Given the description of an element on the screen output the (x, y) to click on. 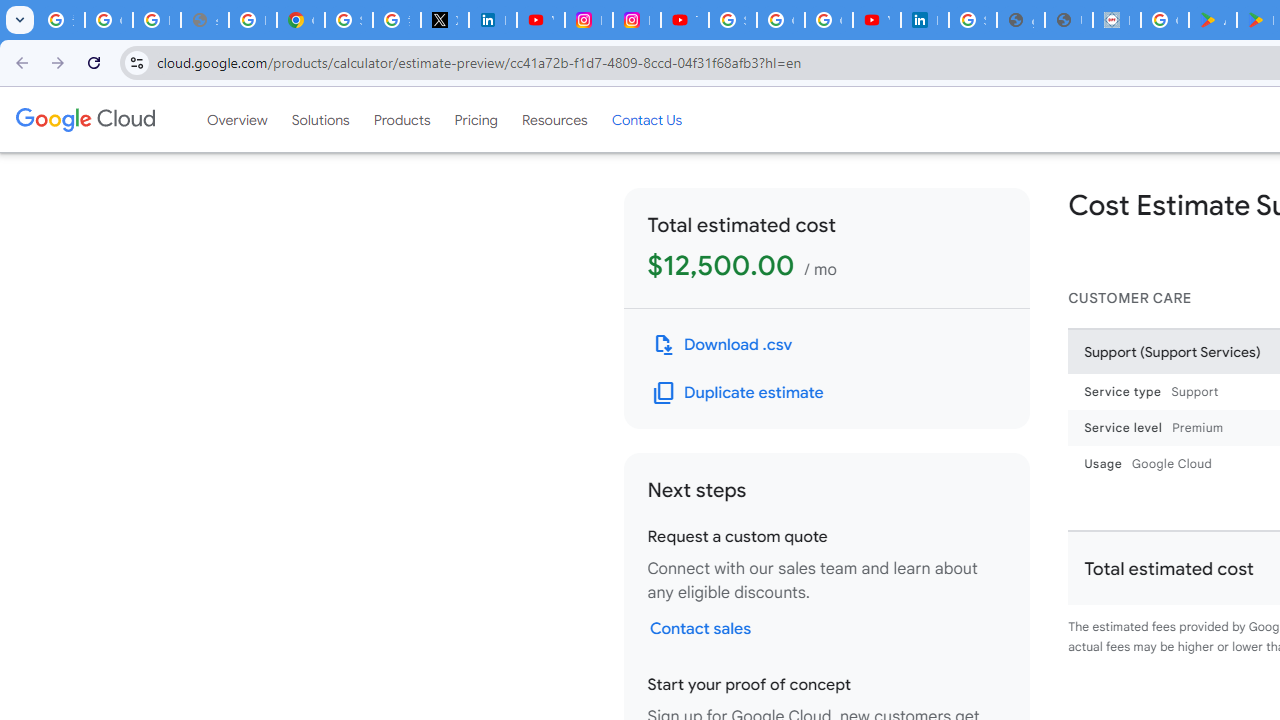
Download .csv file (722, 344)
Pricing (476, 119)
User Details (1068, 20)
Contact sales (699, 628)
Duplicate this estimate (738, 392)
Products (401, 119)
Privacy Help Center - Policies Help (252, 20)
